Given the description of an element on the screen output the (x, y) to click on. 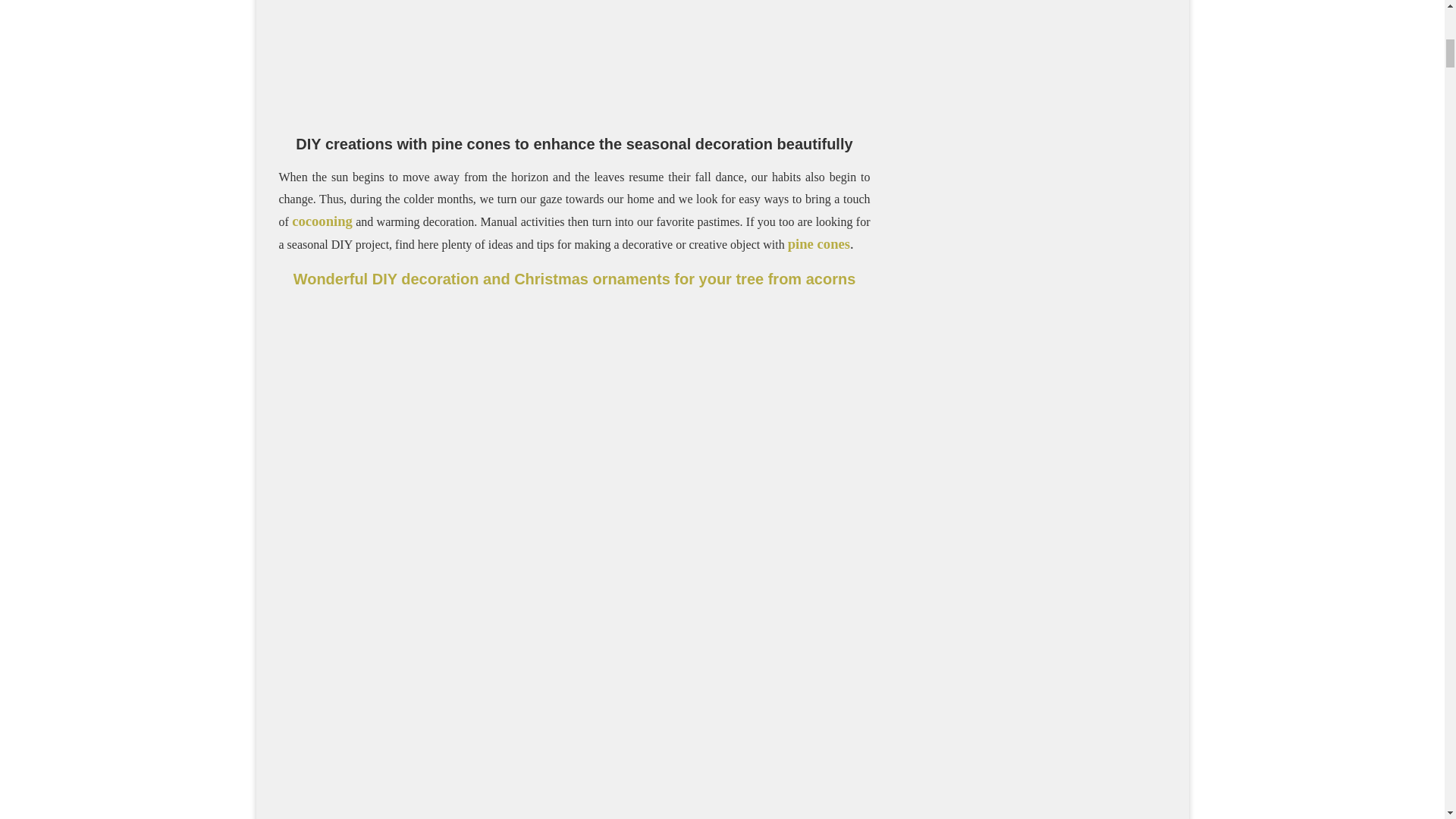
cocooning (322, 221)
pine cones (818, 243)
